Given the description of an element on the screen output the (x, y) to click on. 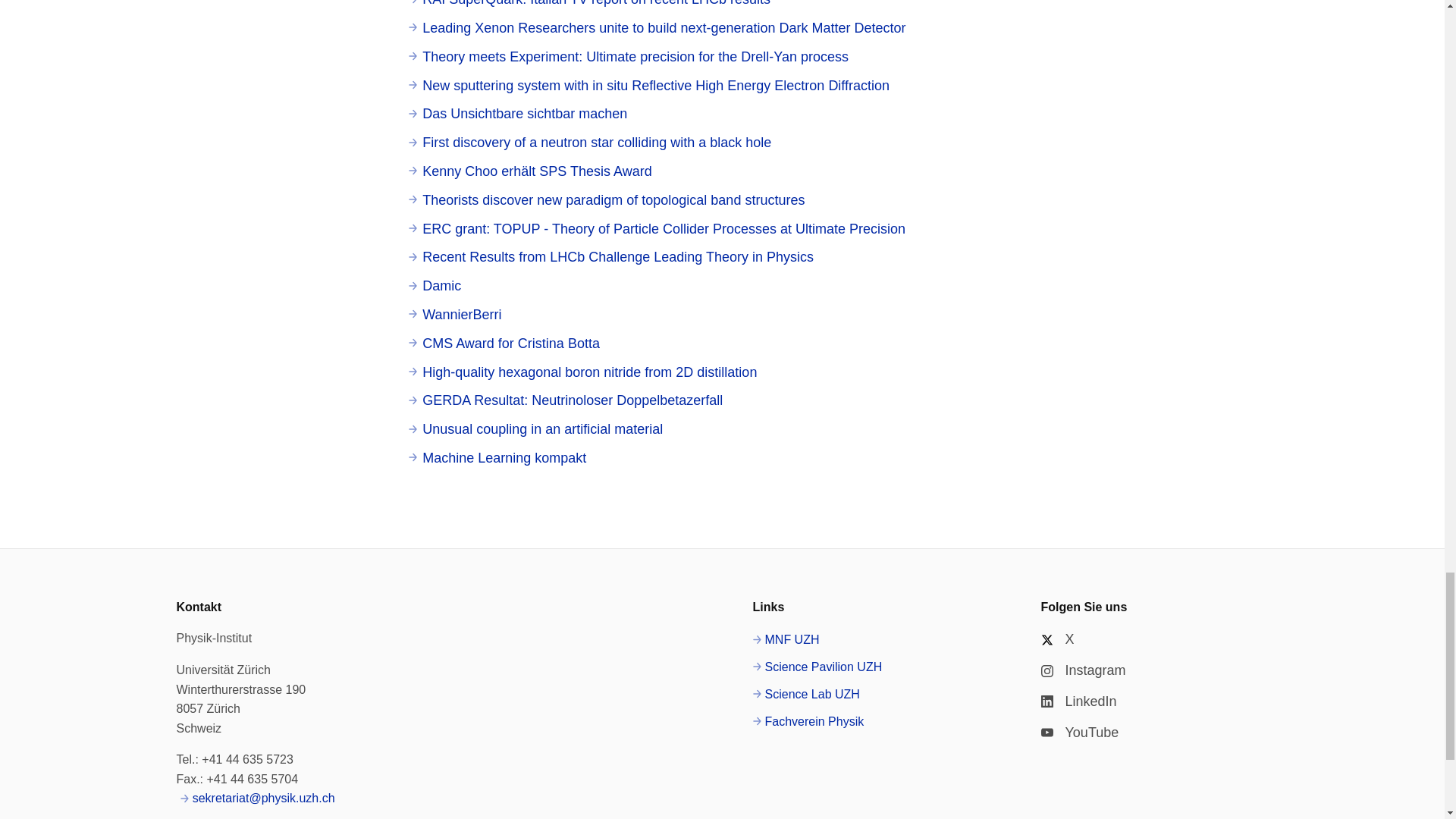
Fachverein Physik (807, 721)
Science Pavilion UZH (817, 667)
MNF UZH (785, 639)
Science Lab UZH (805, 694)
